Given the description of an element on the screen output the (x, y) to click on. 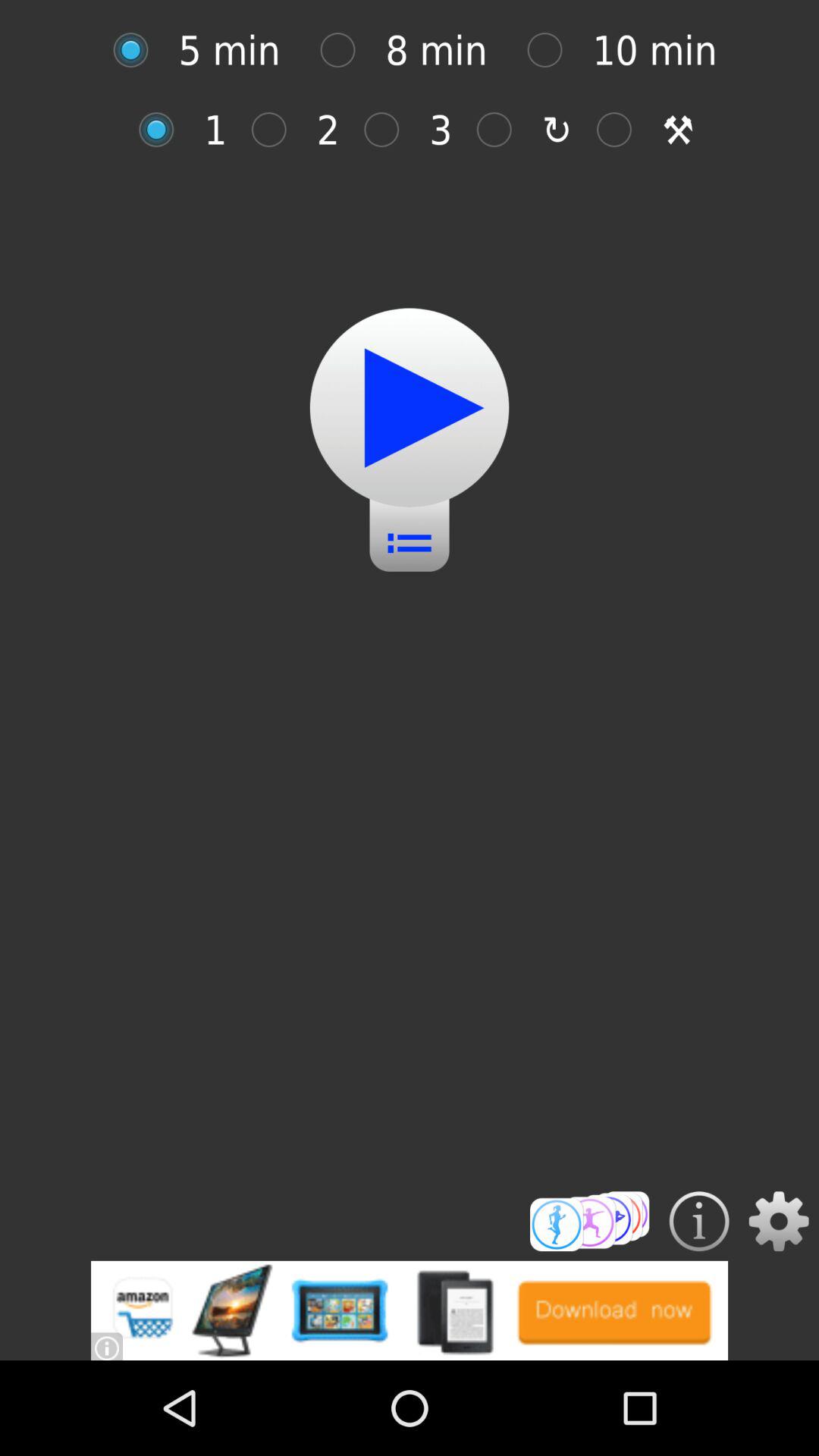
select option (552, 49)
